Given the description of an element on the screen output the (x, y) to click on. 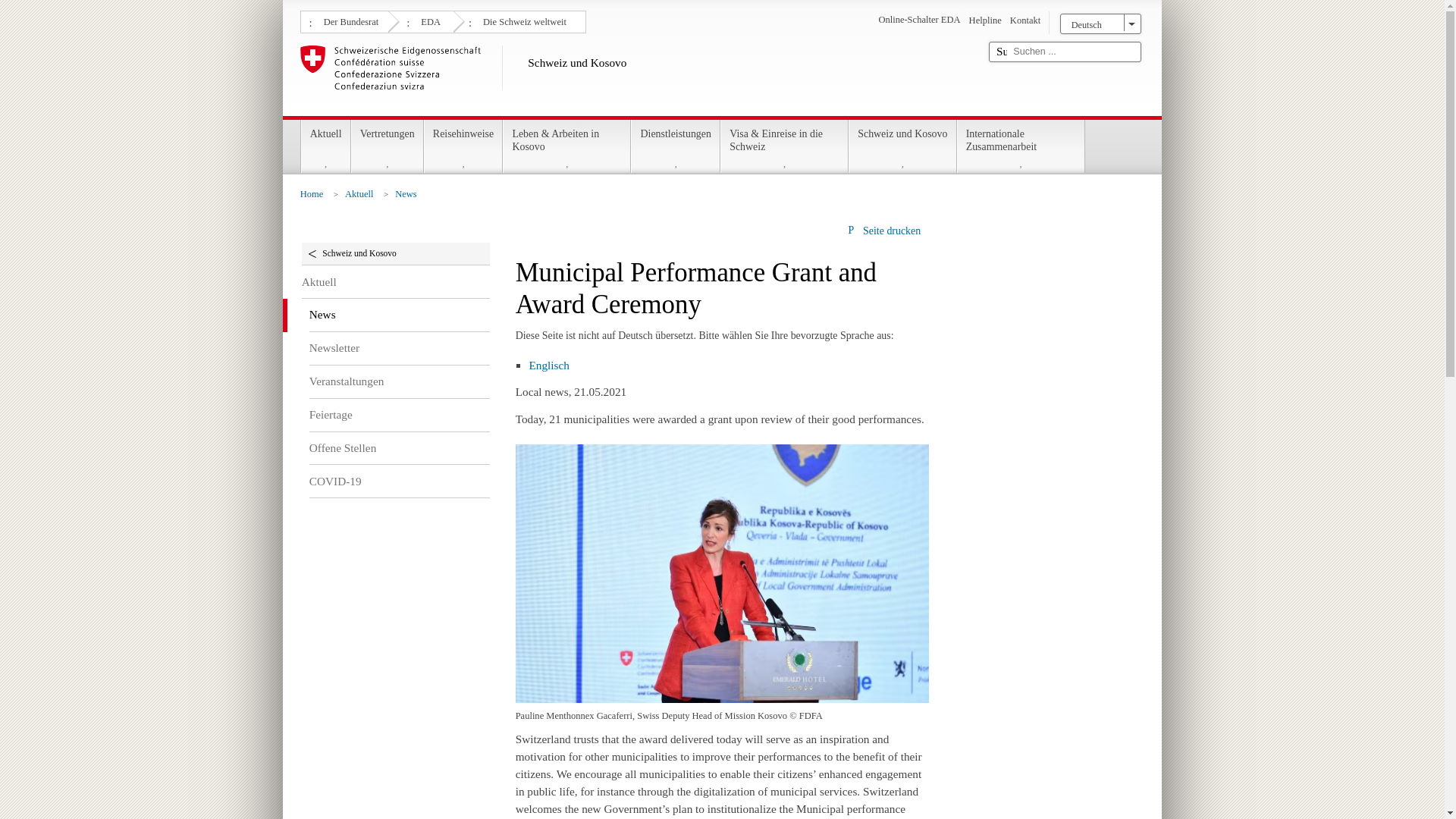
Die Schweiz weltweit (522, 20)
EDA (428, 20)
Schweiz und Kosovo (637, 76)
Der Bundesrat (349, 20)
